Given the description of an element on the screen output the (x, y) to click on. 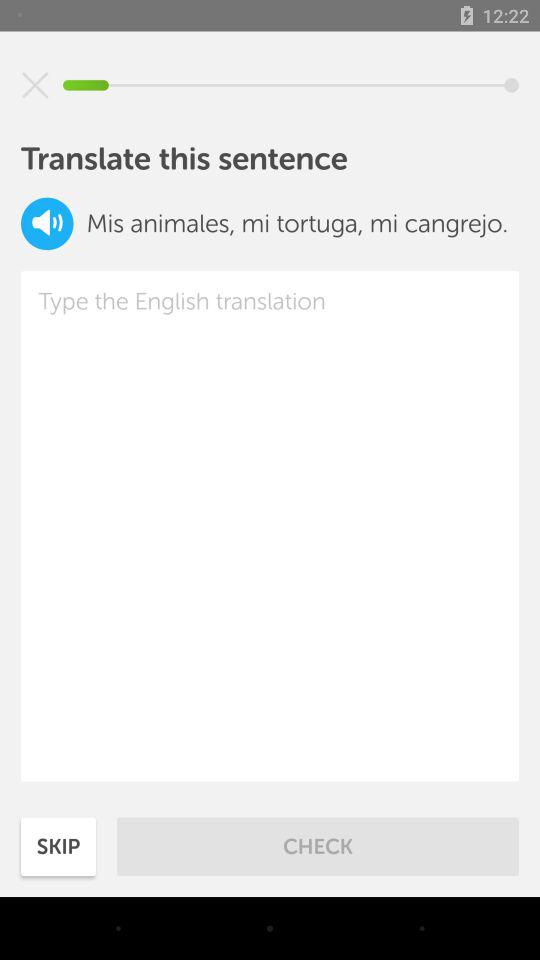
type the english translation (270, 526)
